Given the description of an element on the screen output the (x, y) to click on. 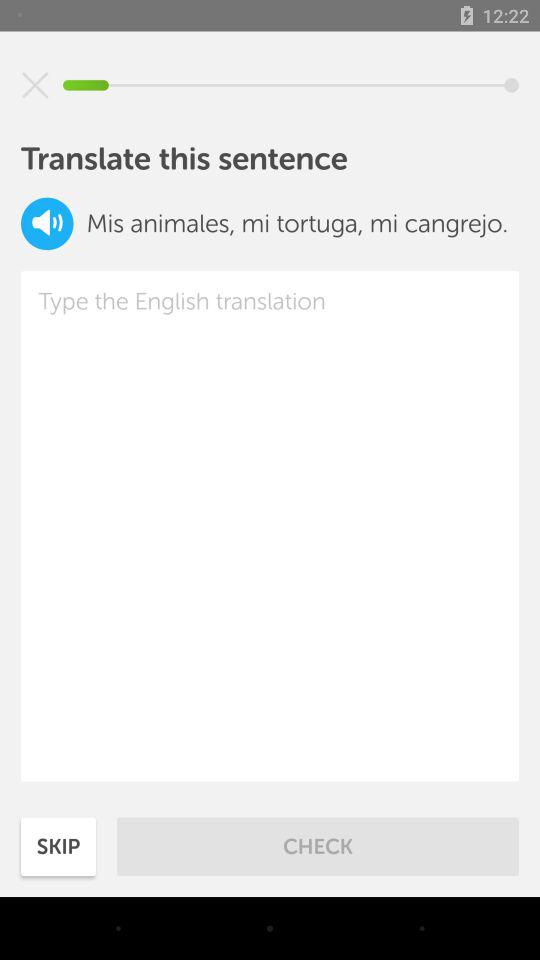
type the english translation (270, 526)
